Given the description of an element on the screen output the (x, y) to click on. 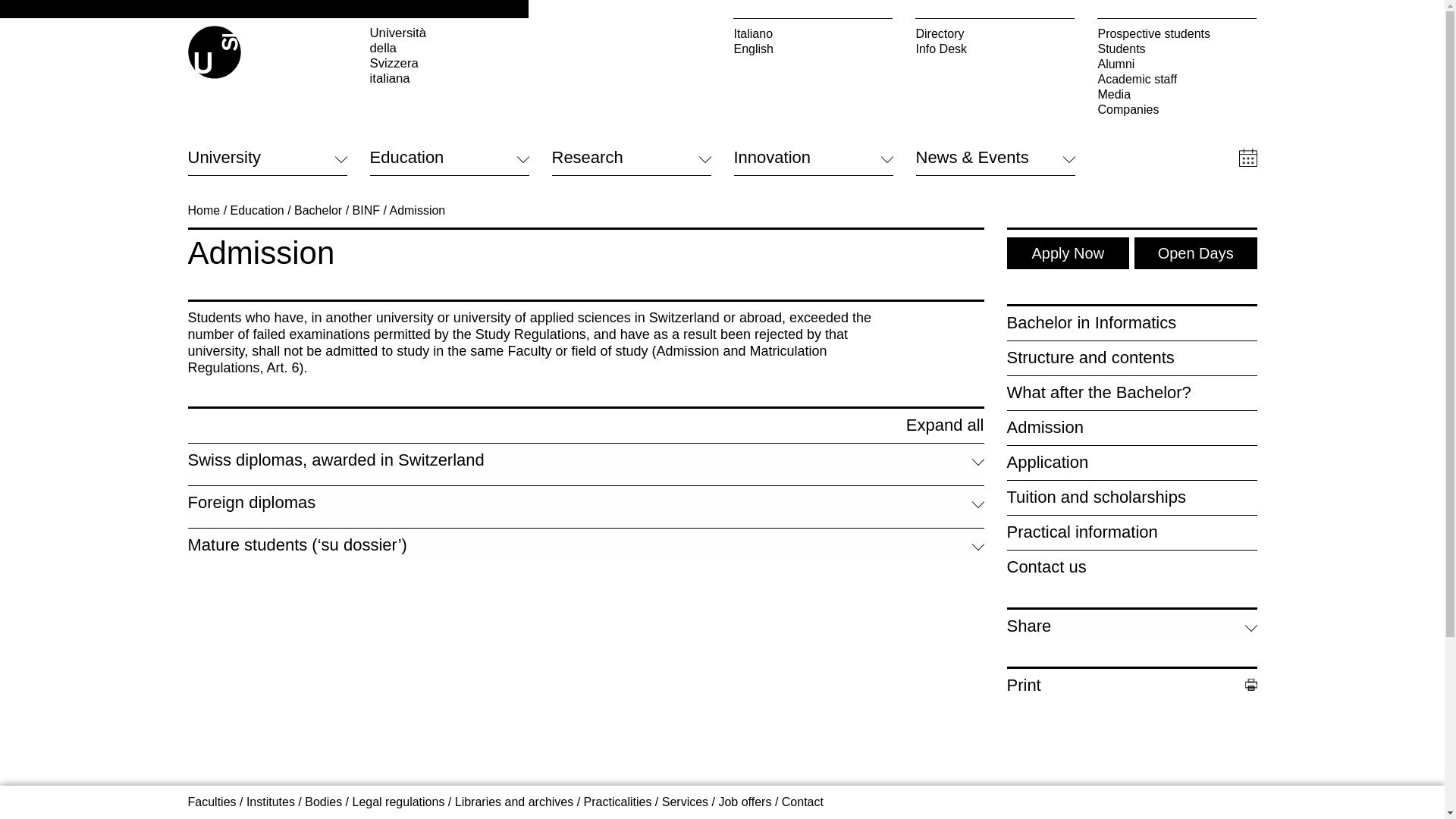
Italiano (812, 33)
Media (1176, 94)
Companies (1176, 109)
Academic staff (1176, 79)
Directory (994, 33)
English (812, 48)
Prospective students (1176, 33)
Students (1176, 48)
Info Desk (994, 48)
Alumni (1176, 64)
